Given the description of an element on the screen output the (x, y) to click on. 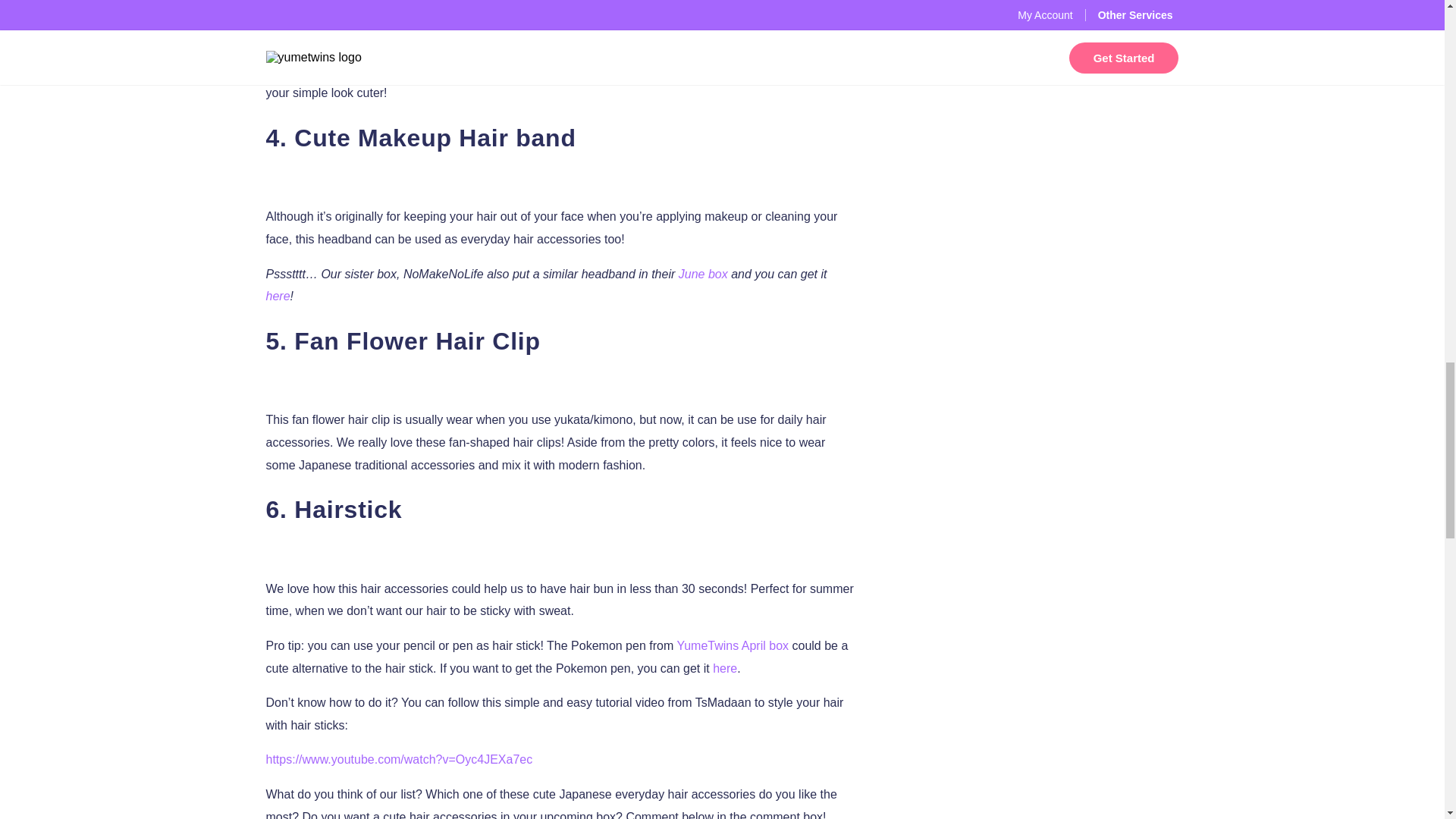
here (724, 667)
here (276, 295)
June box (703, 273)
YumeTwins April box (733, 645)
